Given the description of an element on the screen output the (x, y) to click on. 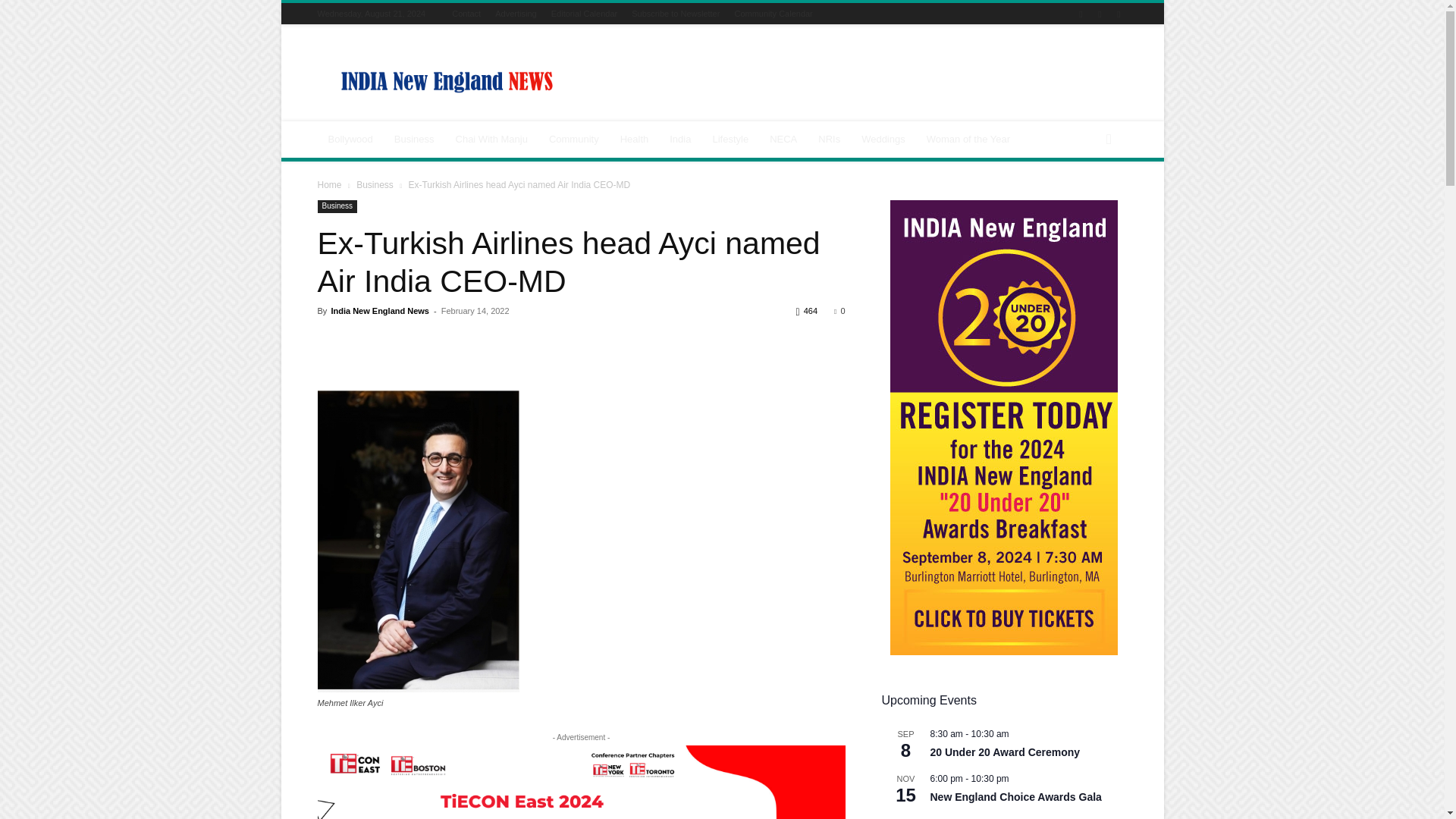
Editorial Calendar (584, 13)
Contact (465, 13)
India (680, 139)
Lifestyle (729, 139)
View all posts in Business (374, 184)
Weddings (882, 139)
Advertising (515, 13)
Community Calendar (772, 13)
NECA (783, 139)
Community (574, 139)
